Given the description of an element on the screen output the (x, y) to click on. 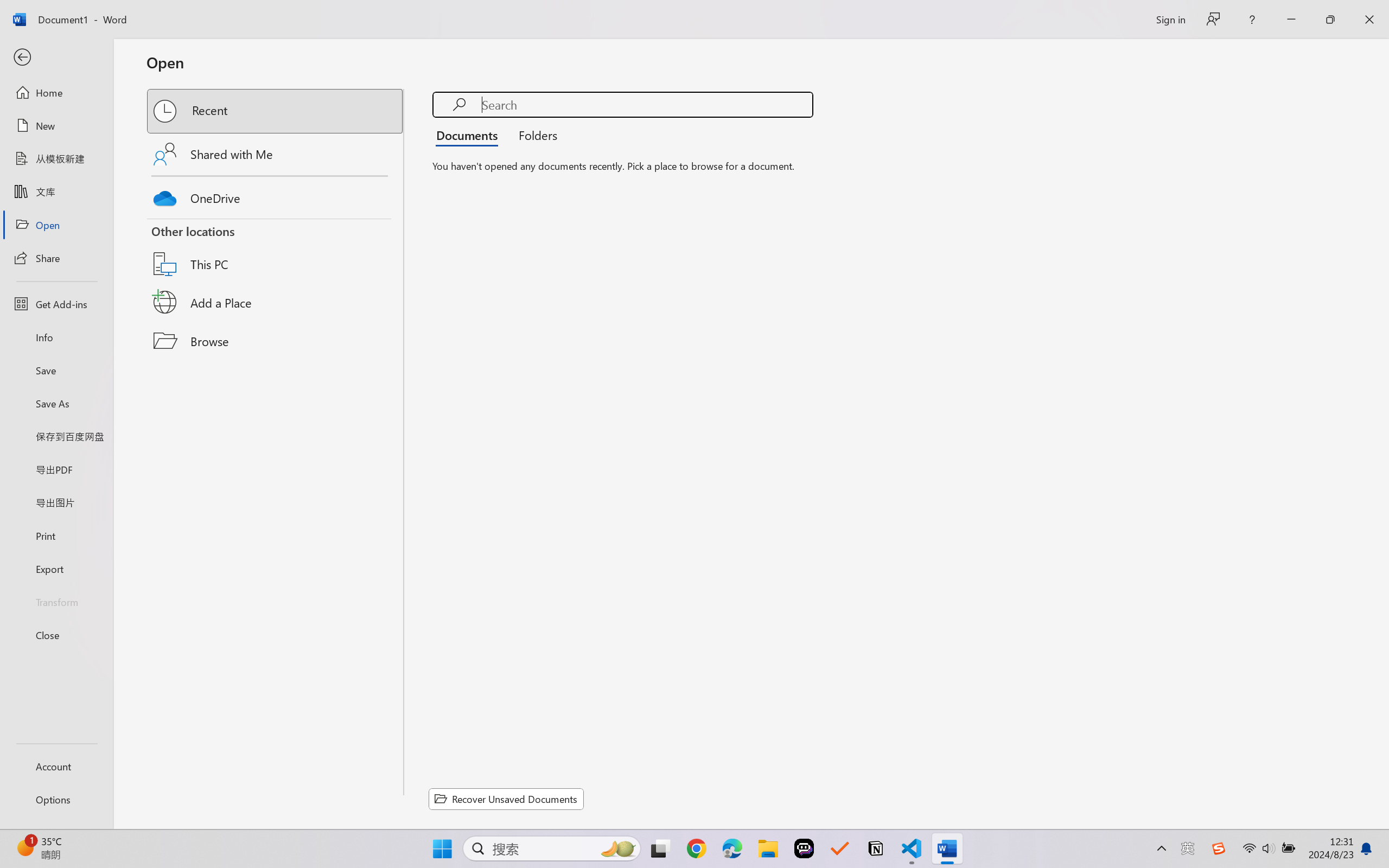
New (56, 125)
This PC (275, 249)
Export (56, 568)
Print (56, 535)
Options (56, 798)
Browse (275, 340)
Folders (534, 134)
Back (56, 57)
